Given the description of an element on the screen output the (x, y) to click on. 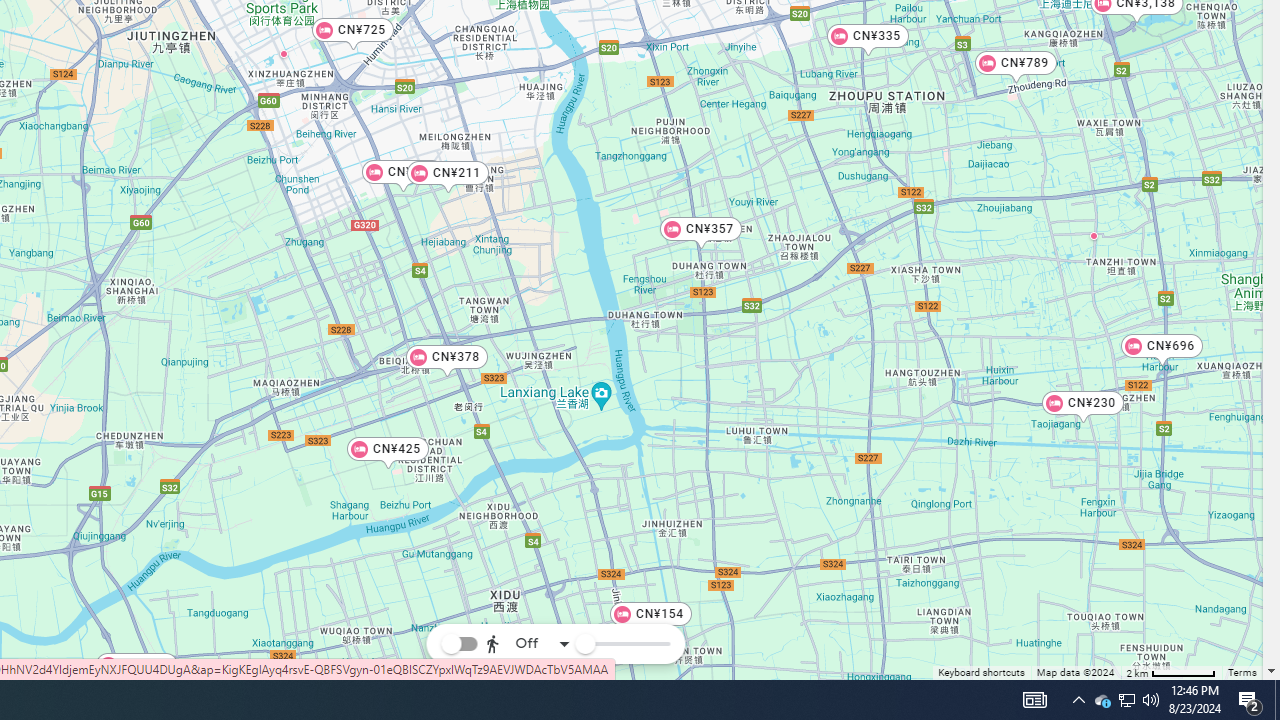
Toggle reachability layer (459, 643)
Keyboard shortcuts (981, 673)
